Given the description of an element on the screen output the (x, y) to click on. 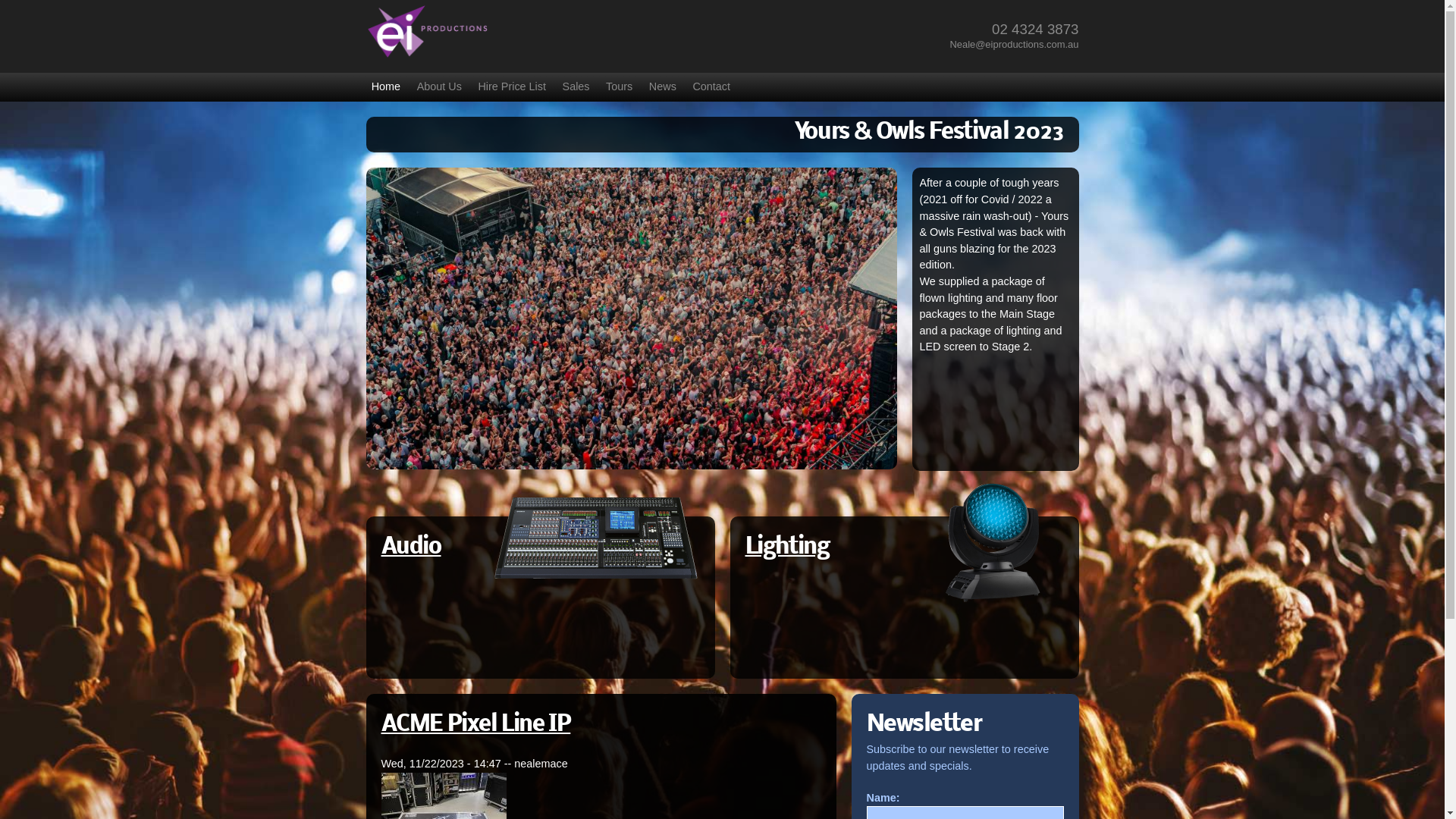
ACME Pixel Line IP Element type: text (475, 724)
About Us Element type: text (439, 86)
Audio Element type: text (410, 547)
Hire Price List Element type: text (511, 86)
Sales Element type: text (575, 86)
Lighting Element type: text (786, 547)
Home Element type: text (385, 86)
Yours & Owls Festival 2023 Element type: text (929, 132)
Tours Element type: text (618, 86)
News Element type: text (662, 86)
Contact Element type: text (711, 86)
Neale@eiproductions.com.au Element type: text (1013, 44)
Skip to main content Element type: text (690, 1)
